Given the description of an element on the screen output the (x, y) to click on. 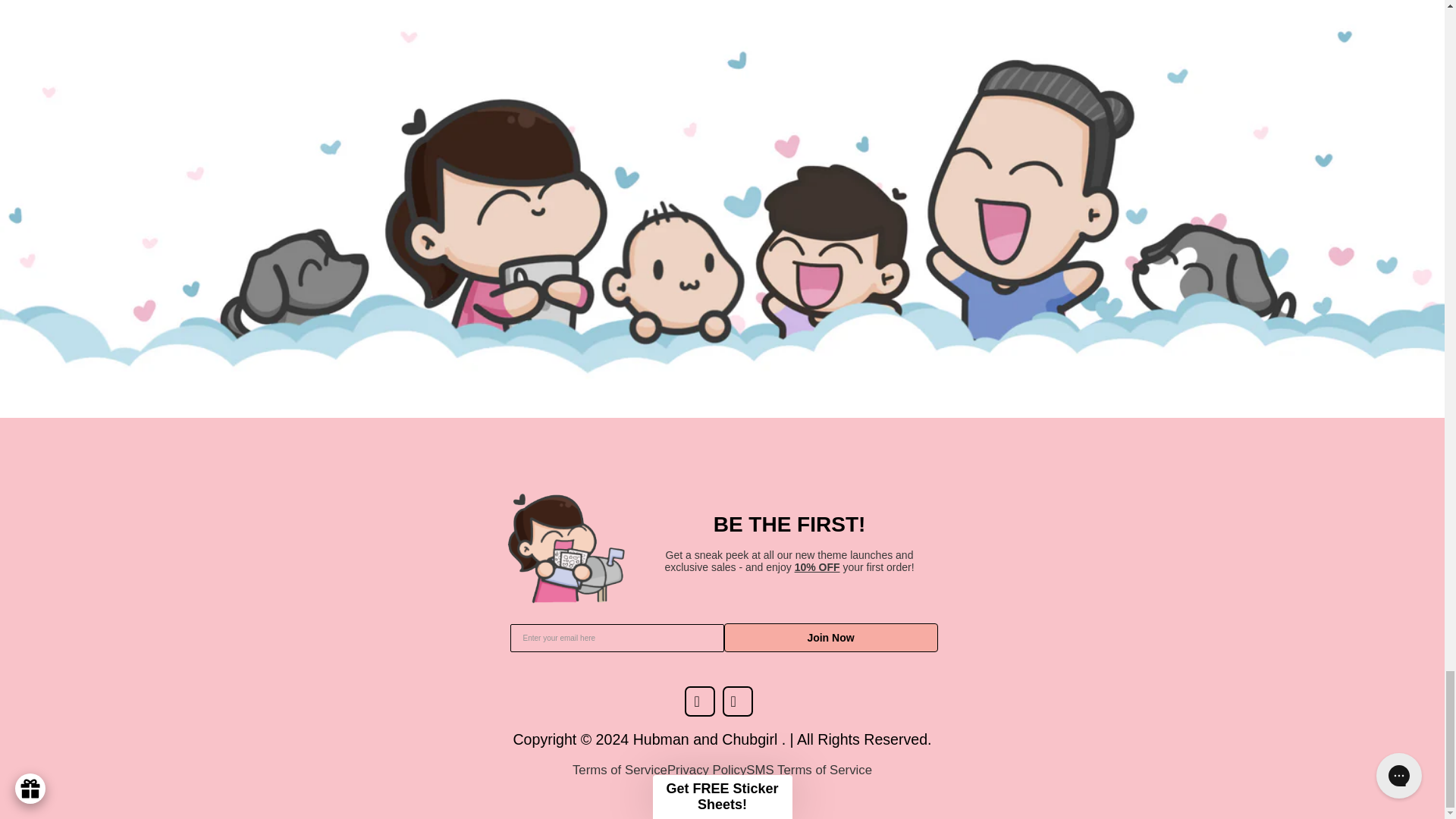
Facebook (703, 703)
Instagram (741, 703)
